Given the description of an element on the screen output the (x, y) to click on. 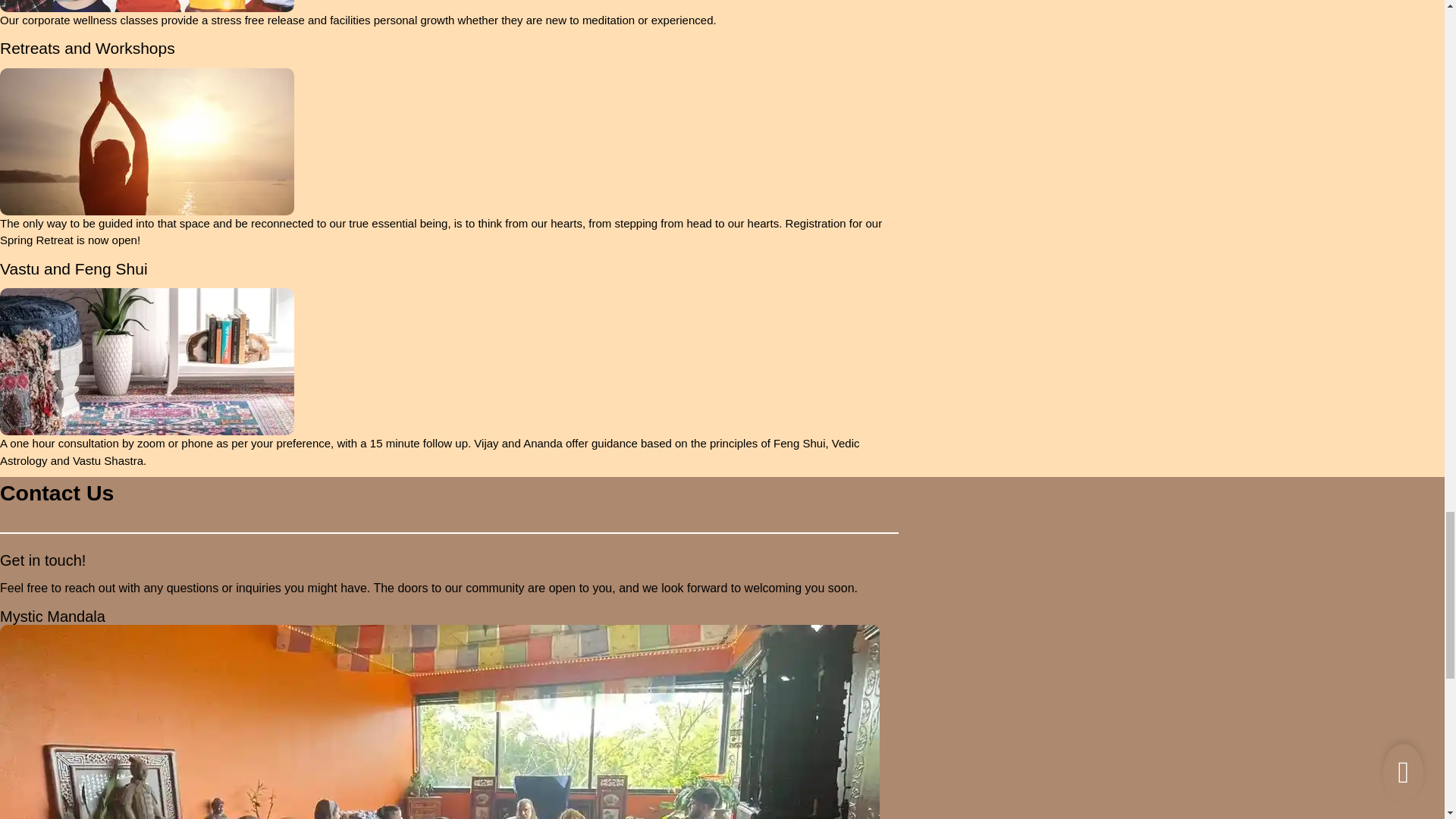
Send Message (55, 653)
